Given the description of an element on the screen output the (x, y) to click on. 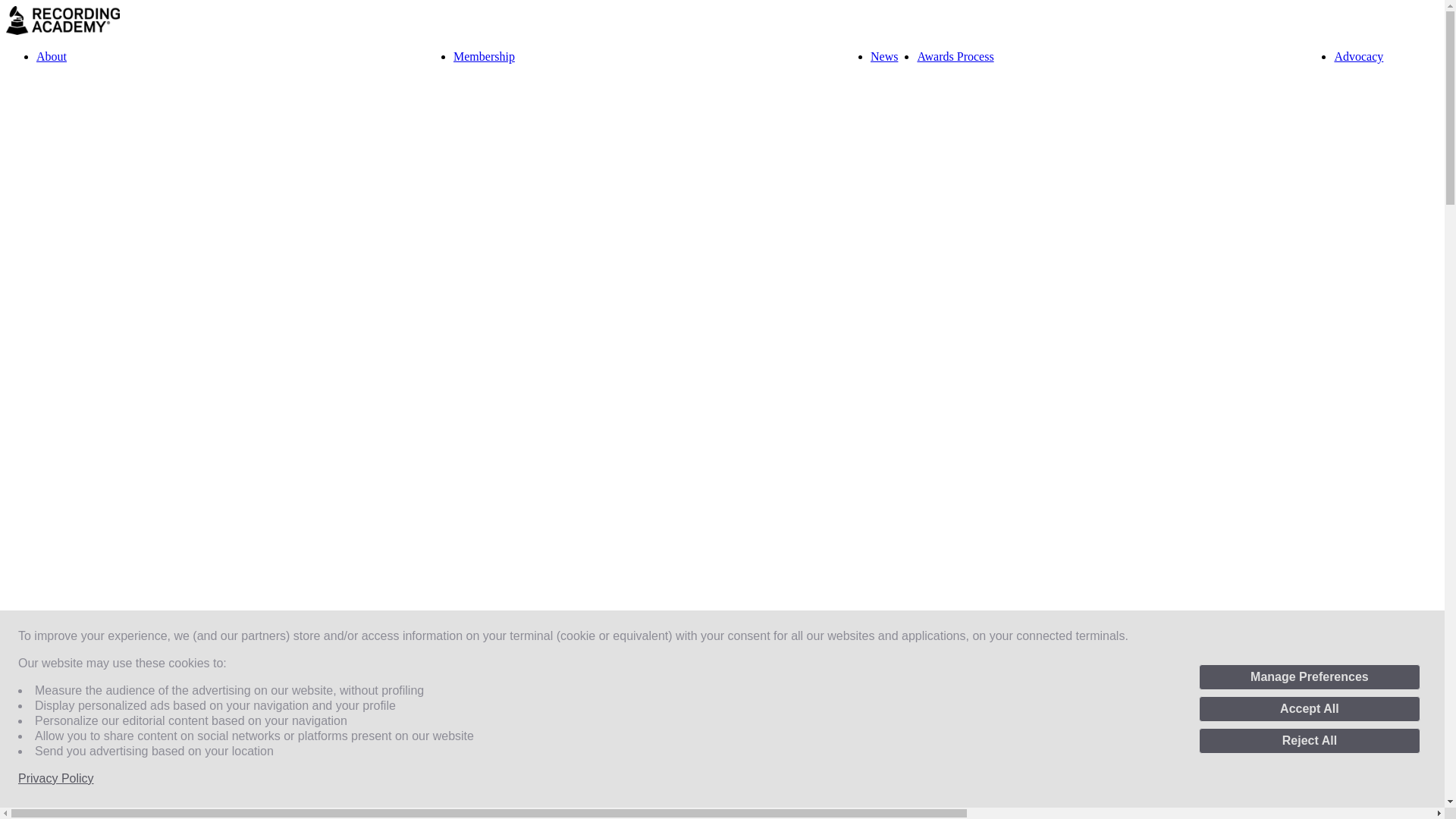
Privacy Policy (55, 778)
Reject All (1309, 740)
Manage Preferences (1309, 677)
Accept All (1309, 708)
Membership (483, 56)
About (51, 56)
